Given the description of an element on the screen output the (x, y) to click on. 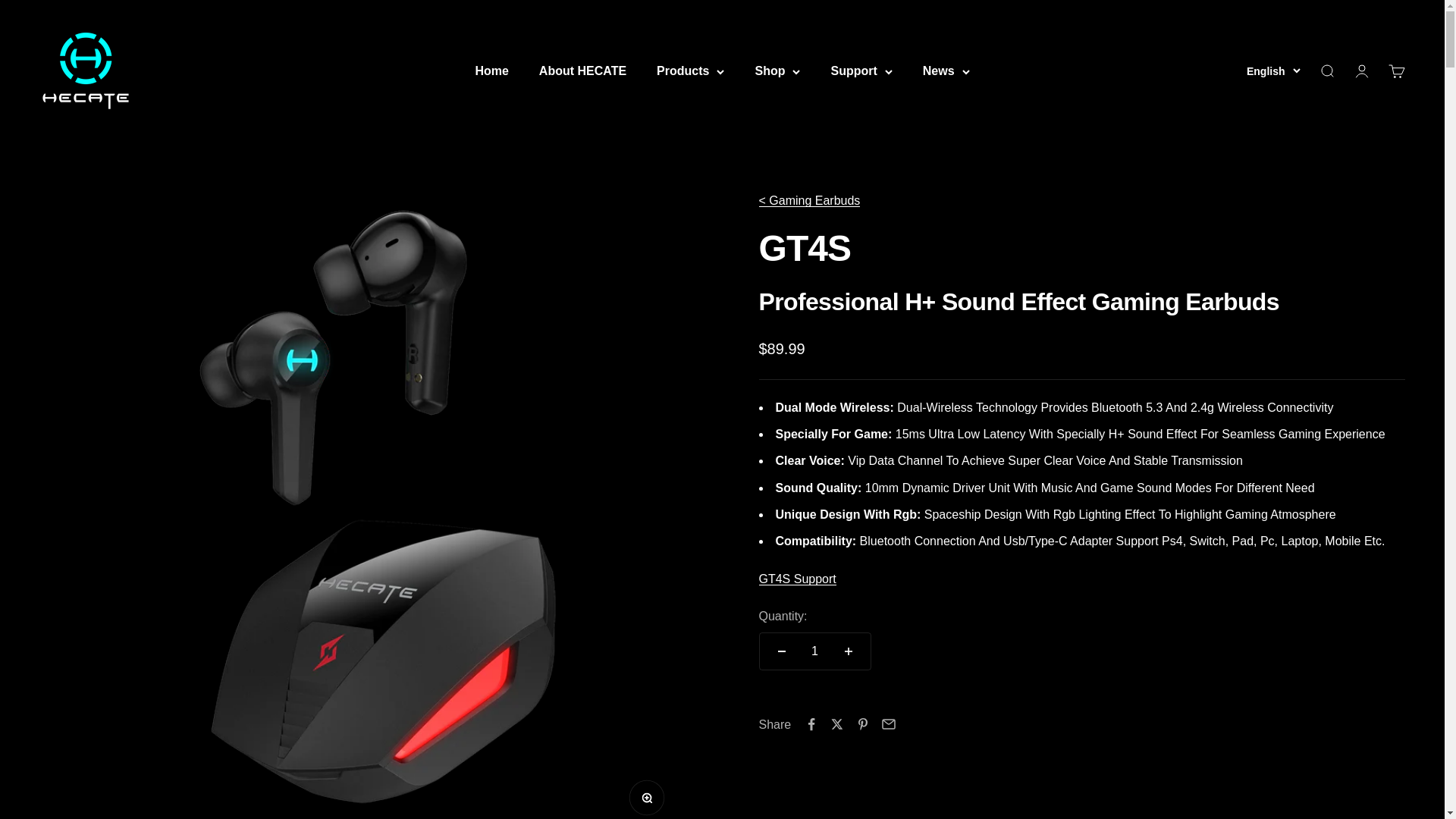
GT4S Product Support (796, 578)
Open search (1396, 71)
Open account page (1326, 71)
English (1361, 71)
Products (1273, 71)
HECATE Gaming (689, 71)
About HECATE (85, 71)
Home (582, 70)
Gaming Earbuds (491, 70)
